Given the description of an element on the screen output the (x, y) to click on. 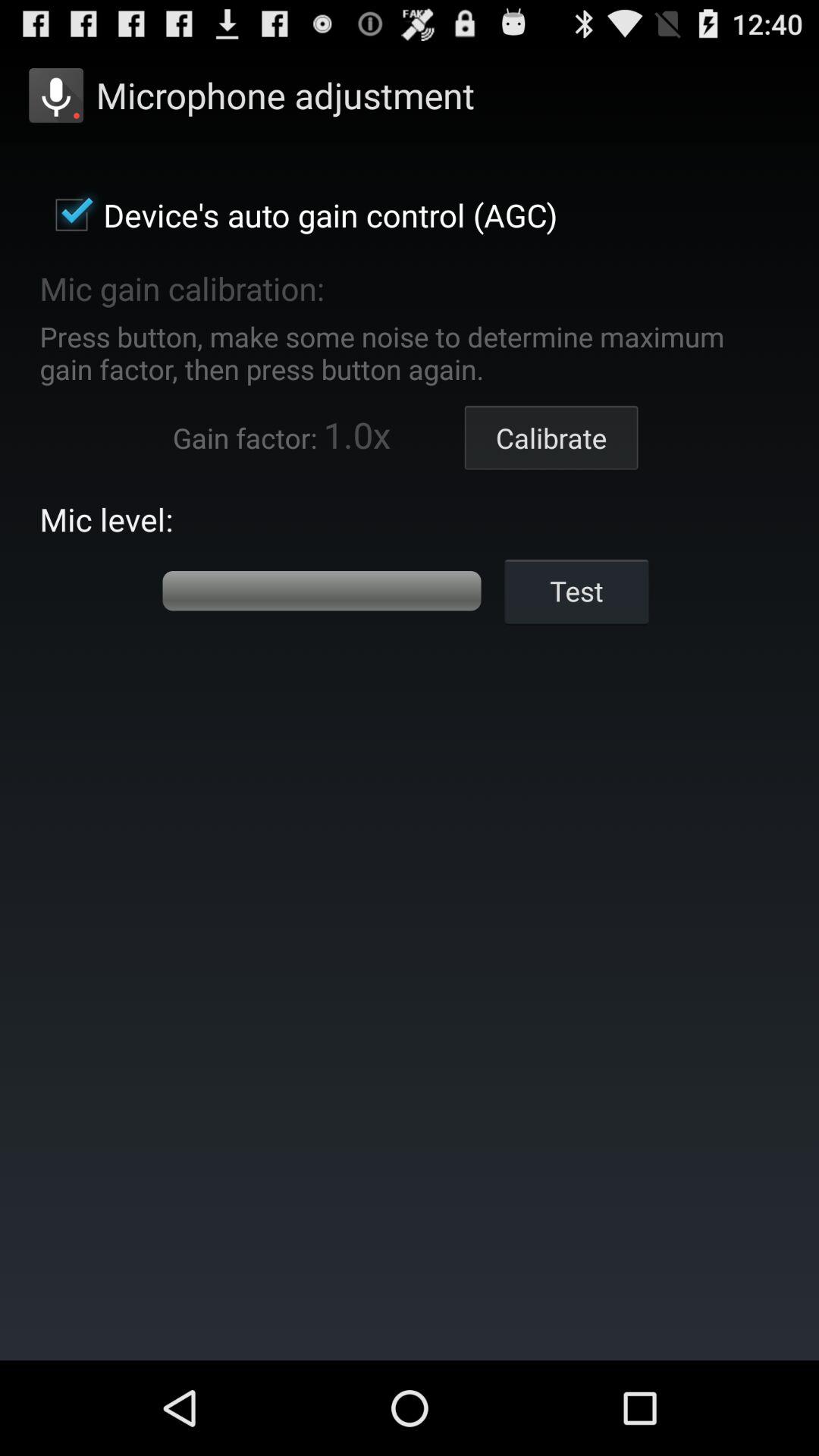
tap button above test (551, 437)
